Given the description of an element on the screen output the (x, y) to click on. 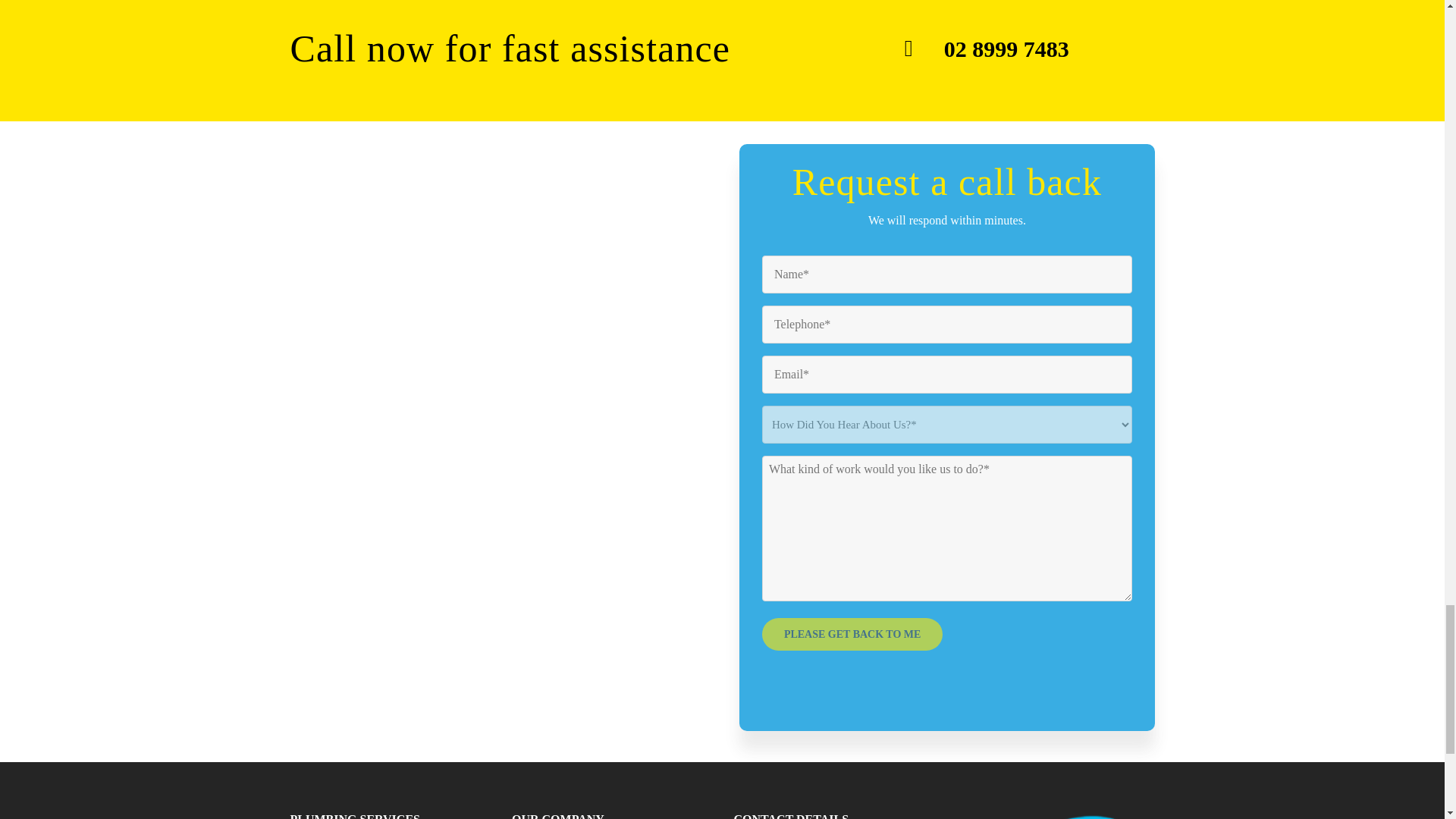
Please Get Back To me (852, 634)
Please Get Back To me (852, 634)
02 8999 7483 (1005, 48)
